Given the description of an element on the screen output the (x, y) to click on. 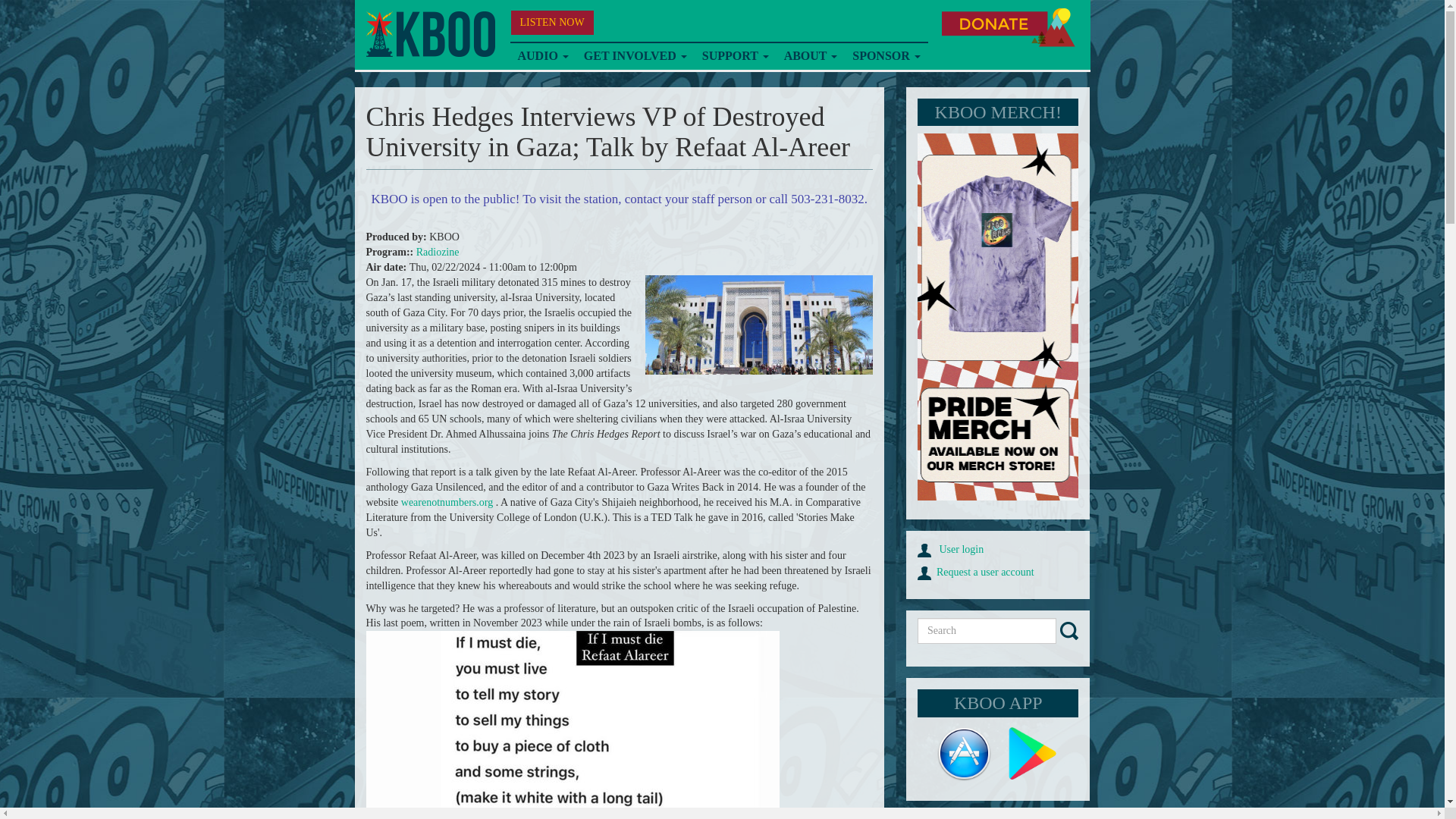
AUDIO (542, 55)
SPONSOR (886, 55)
Home (430, 34)
SUPPORT (735, 55)
ABOUT (810, 55)
LISTEN NOW (551, 22)
GET INVOLVED (635, 55)
